Given the description of an element on the screen output the (x, y) to click on. 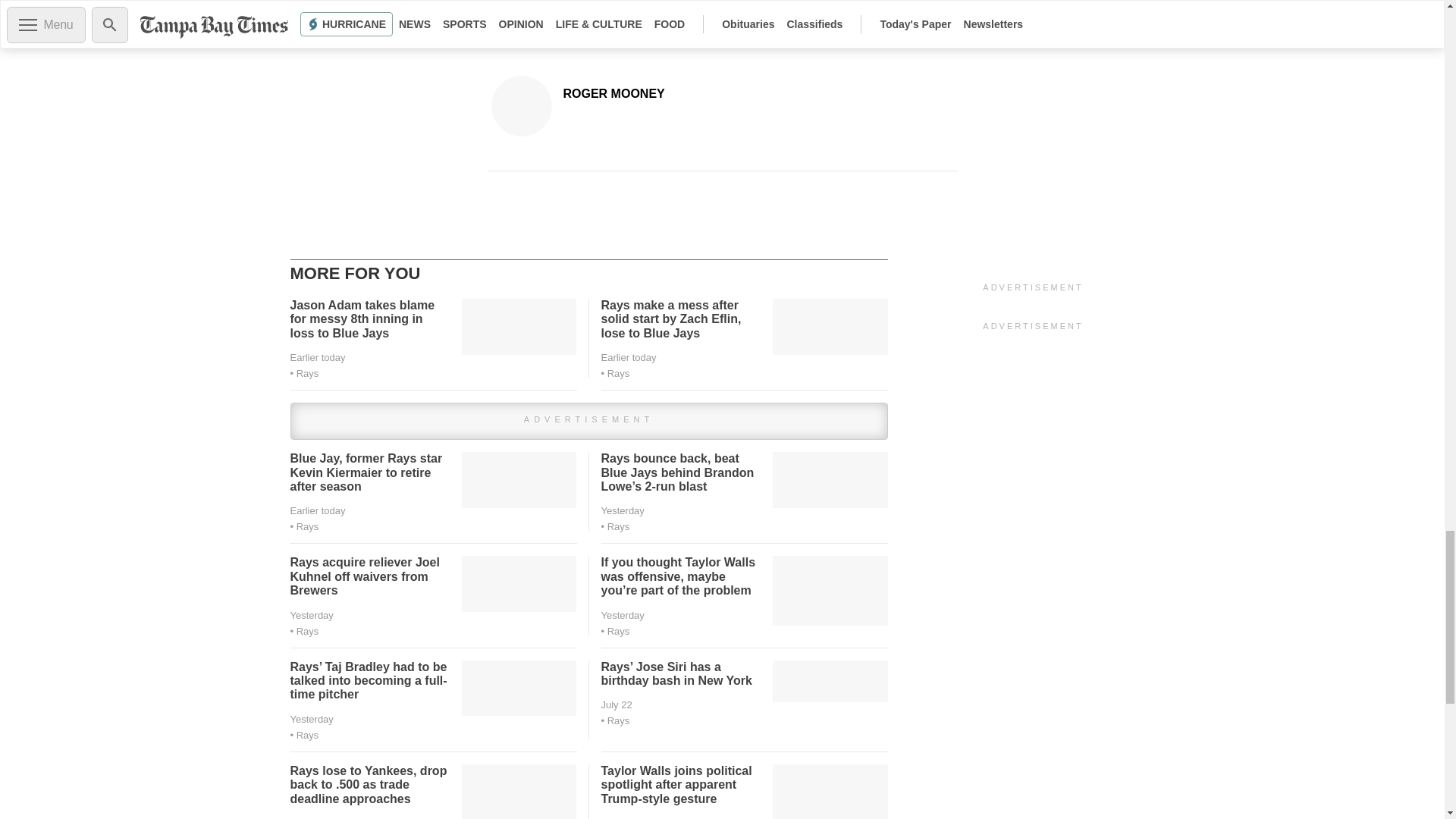
2024-07-25T03:21:52.971Z (627, 357)
2024-07-23T19:58:03.706Z (311, 718)
2024-07-25T00:39:40.161Z (317, 510)
2024-07-25T03:54:27.264Z (317, 357)
2024-07-24T03:50:21.820Z (311, 614)
2024-07-22T23:00:21.941Z (615, 705)
2024-07-23T21:03:24.794Z (621, 614)
2024-07-24T04:28:14.622Z (621, 510)
